Given the description of an element on the screen output the (x, y) to click on. 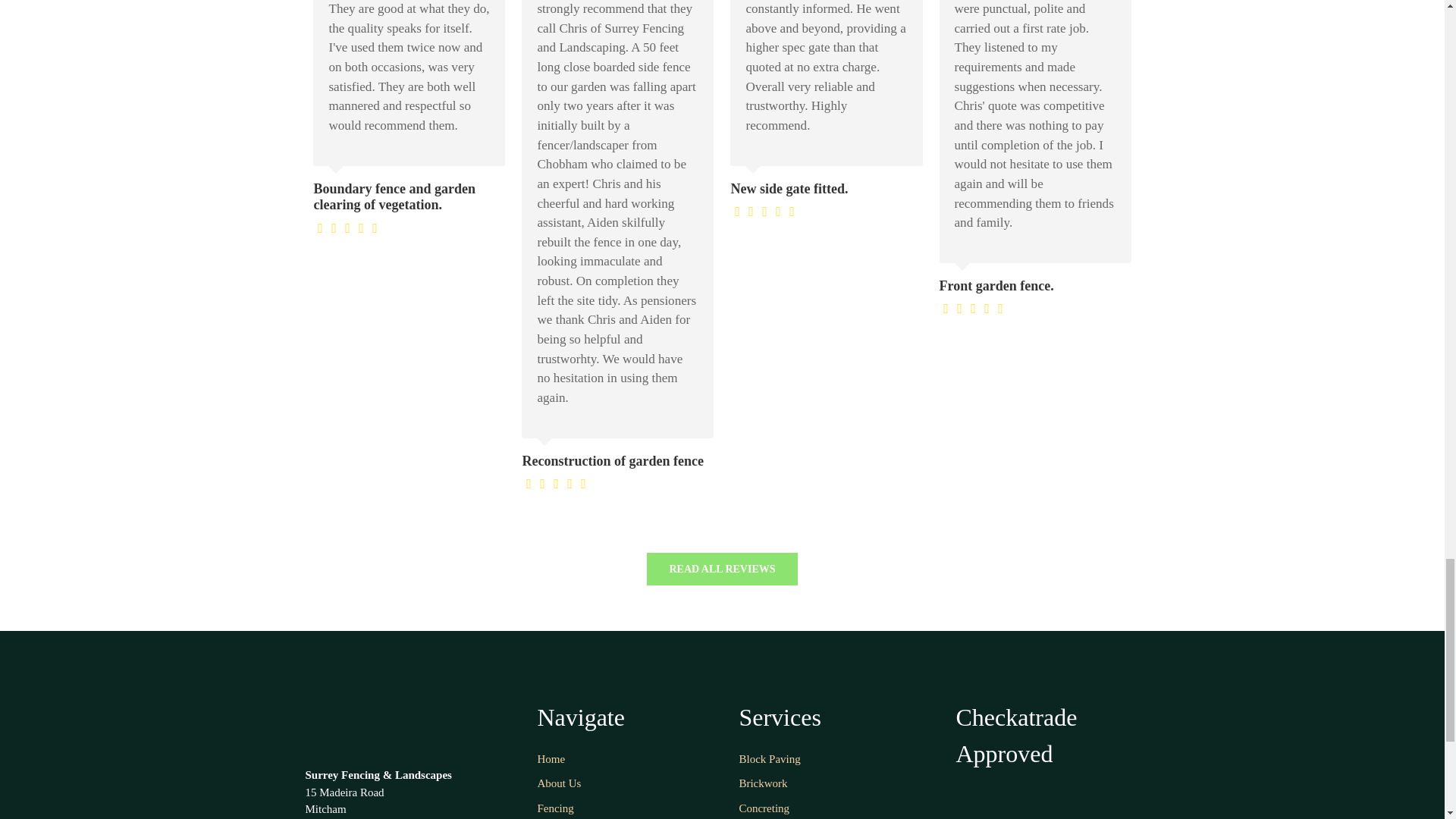
logo-white (395, 718)
